Given the description of an element on the screen output the (x, y) to click on. 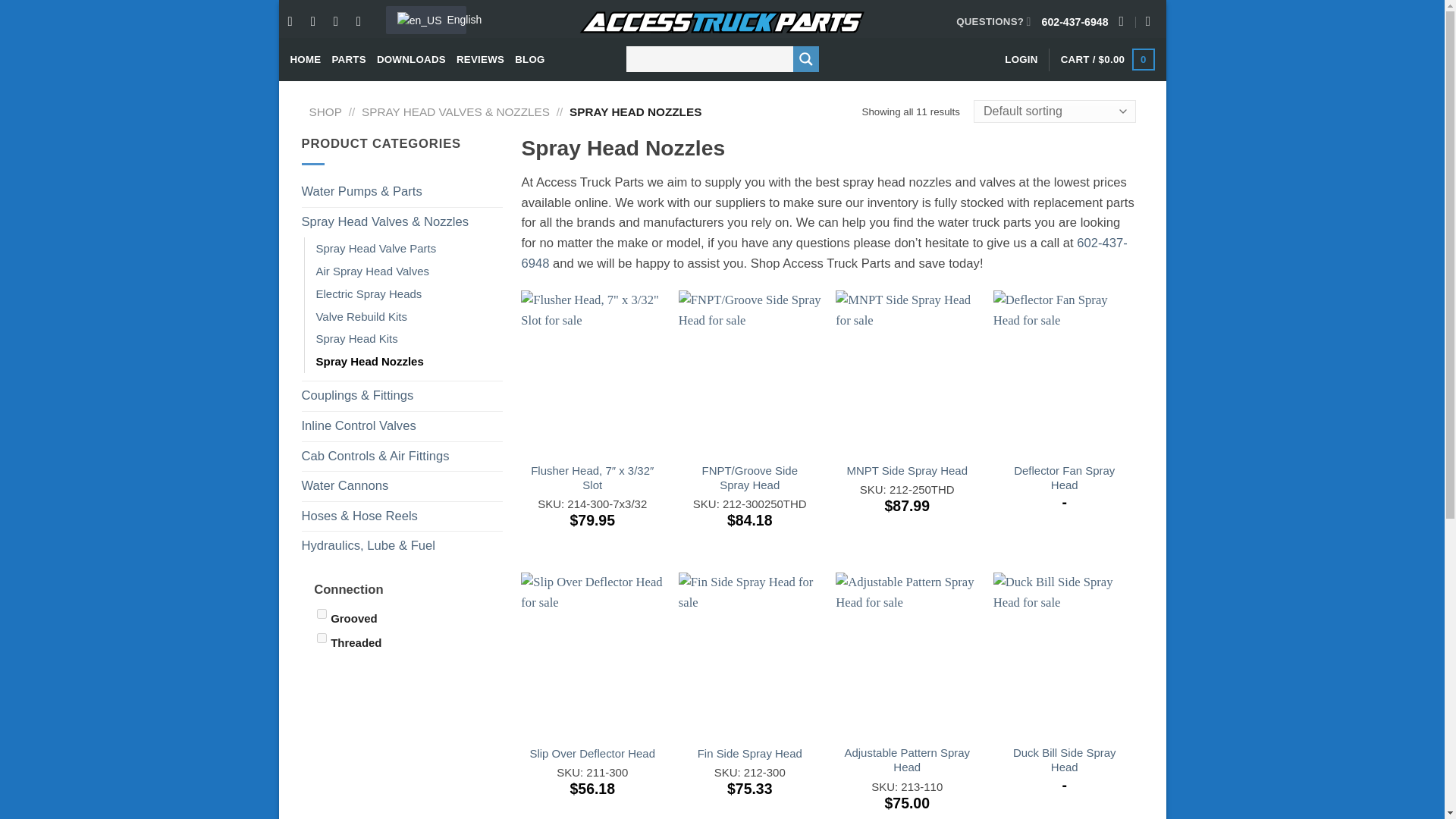
337 (321, 637)
336 (321, 614)
Follow on Instagram (317, 21)
SHOP (325, 111)
English (425, 19)
English (425, 19)
Follow on LinkedIn (339, 21)
HOME (304, 59)
PARTS (348, 59)
